Given the description of an element on the screen output the (x, y) to click on. 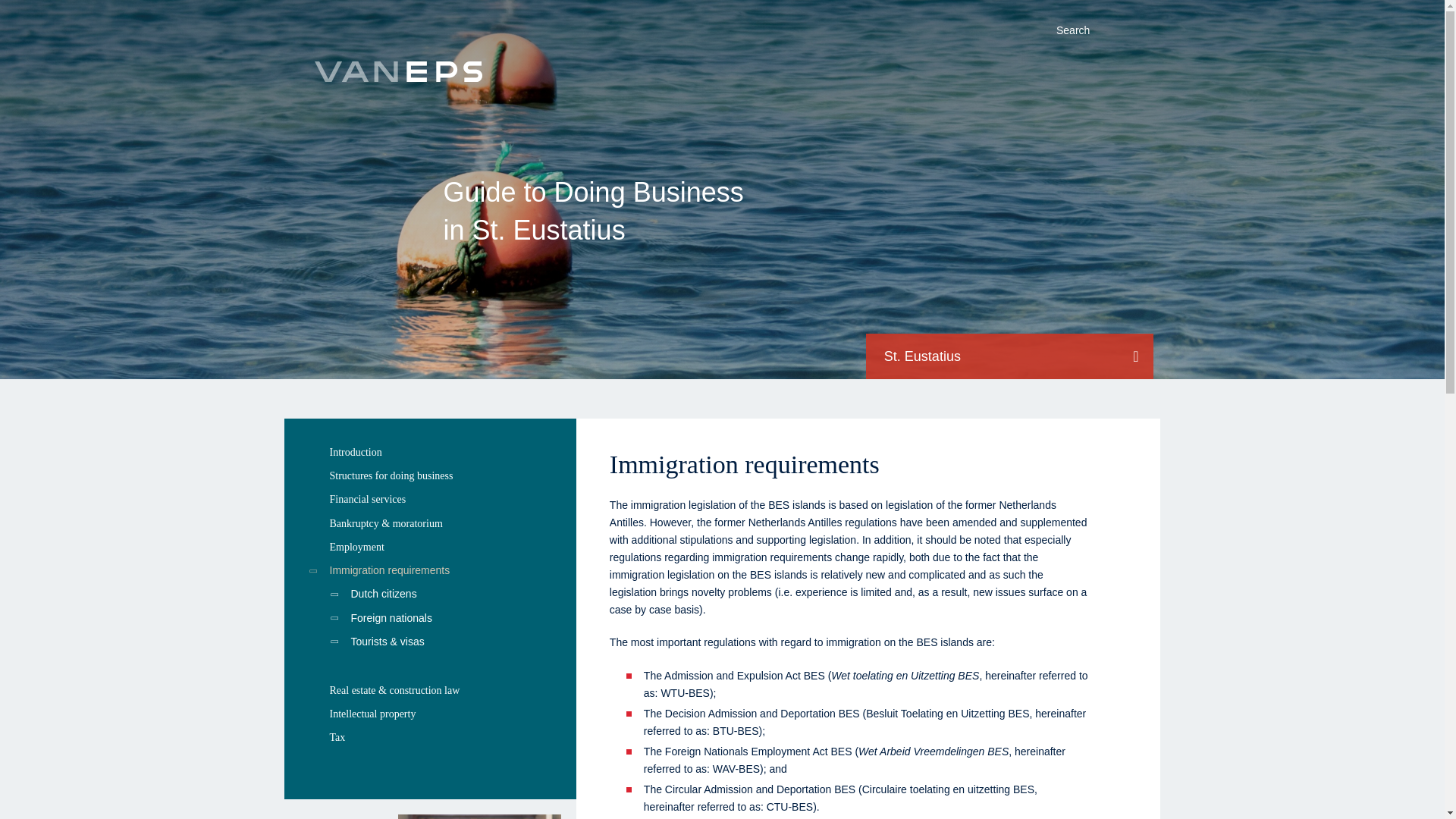
Guide to doing business (397, 72)
Immigration requirements (429, 570)
St. Eustatius (1009, 356)
Dutch citizens (429, 594)
Intellectual property (429, 713)
Introduction (429, 452)
Tax (429, 737)
Employment (429, 546)
Structures for doing business (429, 475)
Foreign nationals (429, 617)
Financial services (429, 499)
